Given the description of an element on the screen output the (x, y) to click on. 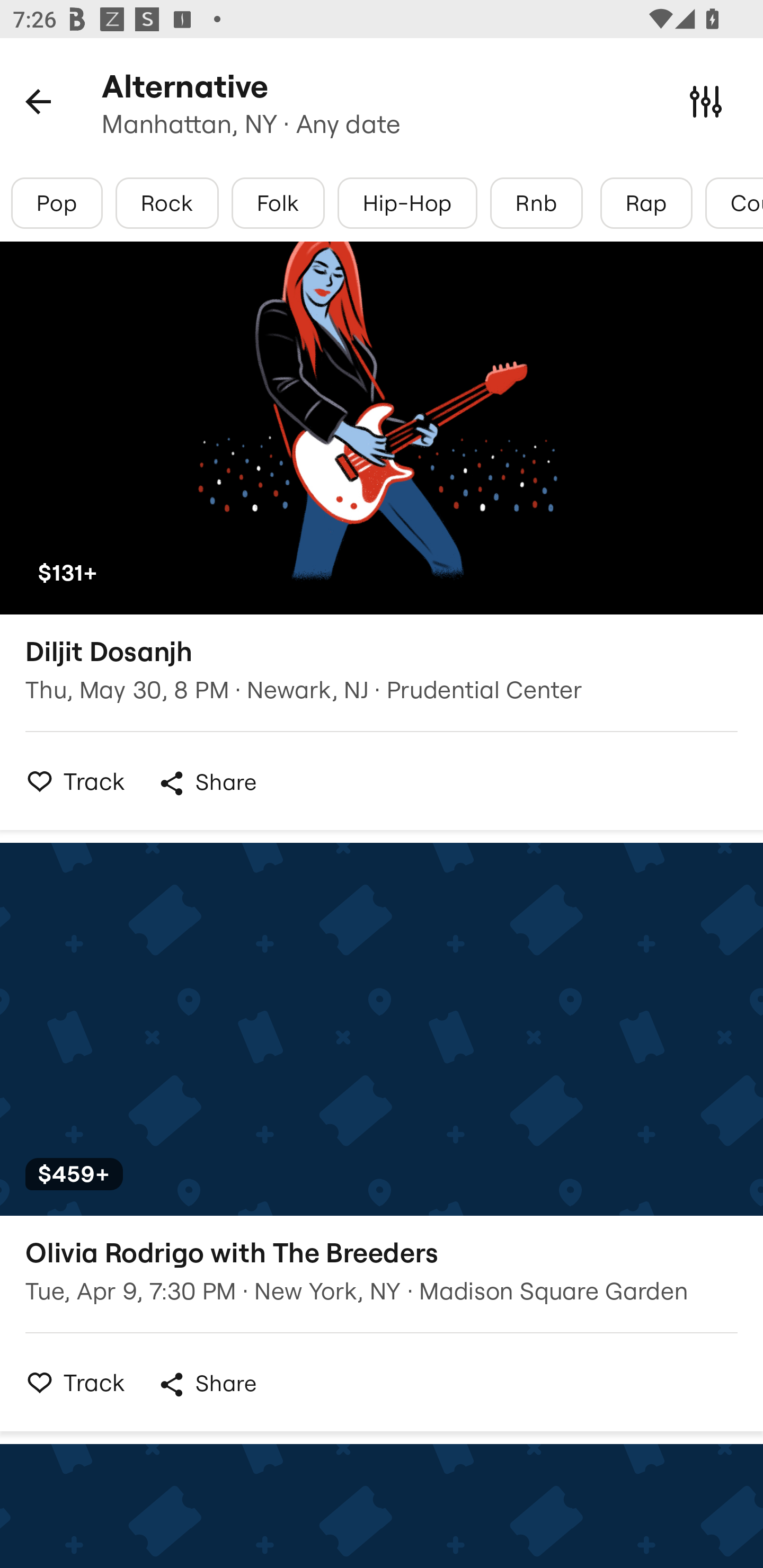
Back (38, 100)
Filters (705, 100)
Pop (57, 202)
Rock (166, 202)
Folk (278, 202)
Hip-Hop (407, 202)
Rnb (535, 202)
Rap (646, 202)
Track (70, 780)
Share (207, 783)
Track (70, 1381)
Share (207, 1384)
